Given the description of an element on the screen output the (x, y) to click on. 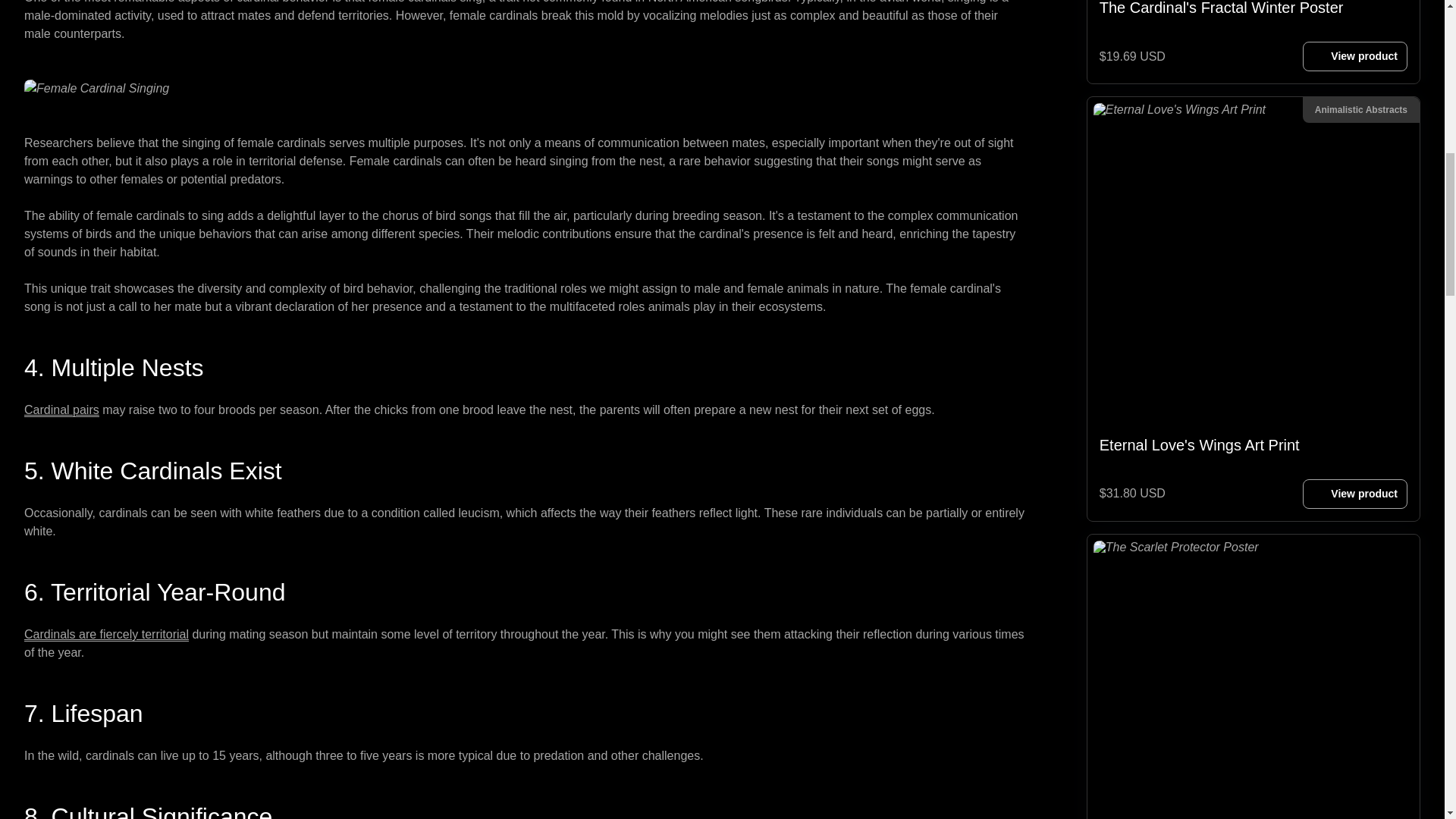
View The Scarlet Protector Poster (1253, 676)
View Eternal Love's Wings Art Print (1355, 493)
View Eternal Love's Wings Art Print (1253, 281)
View The Cardinal's Fractal Winter Poster (1355, 56)
View The Cardinal's Fractal Winter Poster (1253, 14)
